Given the description of an element on the screen output the (x, y) to click on. 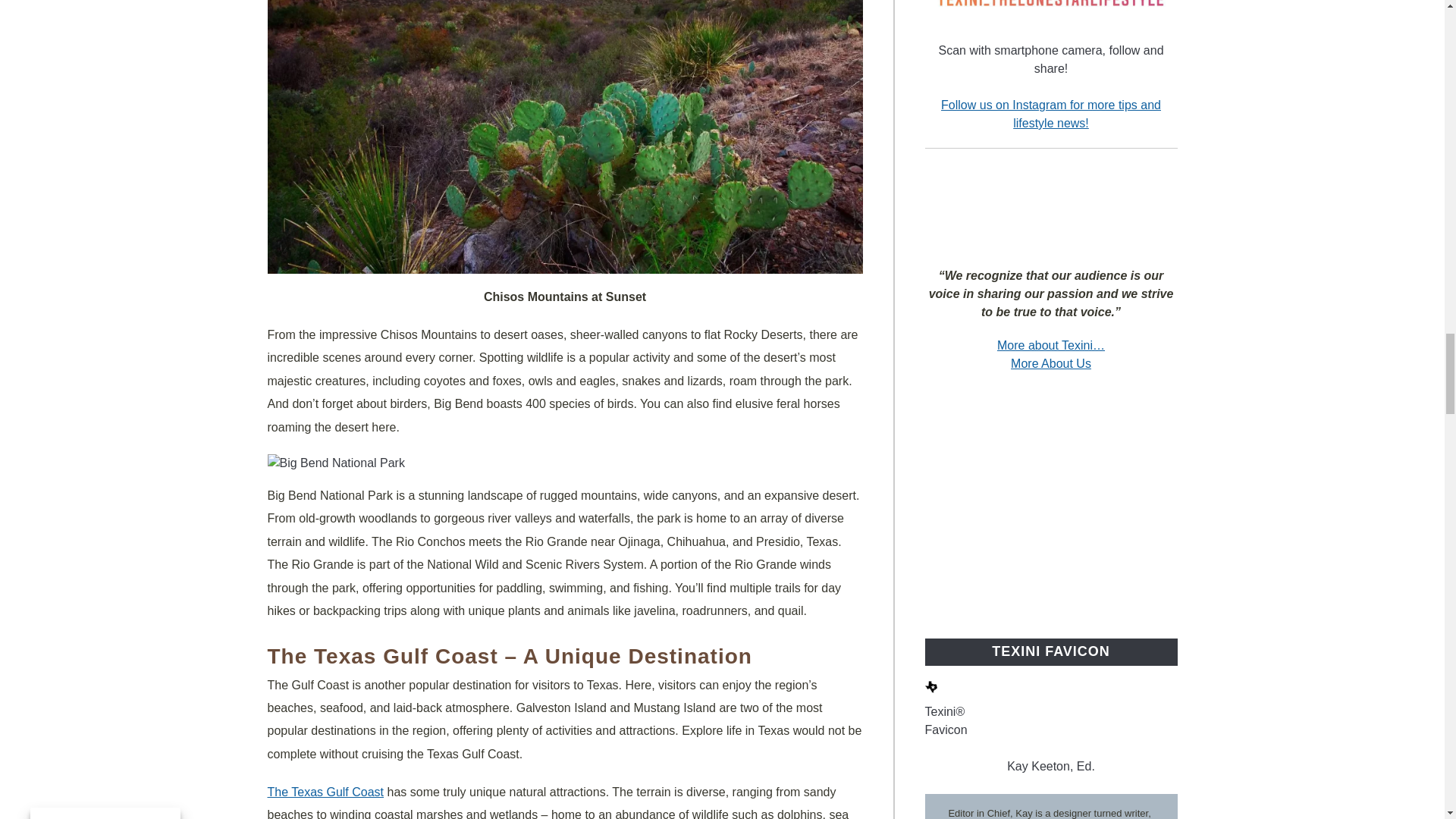
Texini Favicon (930, 686)
